Given the description of an element on the screen output the (x, y) to click on. 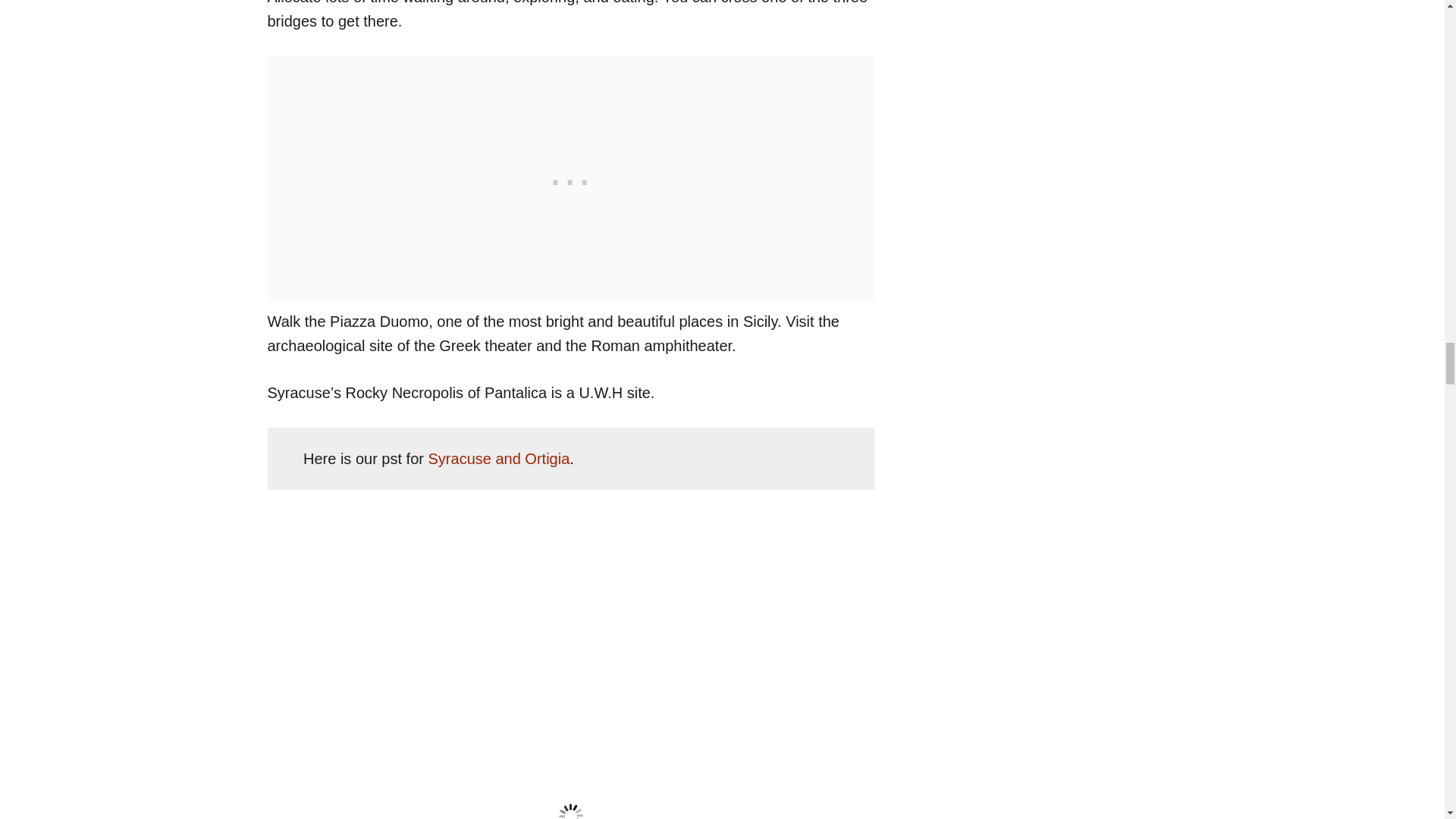
Syracuse and Ortigia (499, 458)
